Given the description of an element on the screen output the (x, y) to click on. 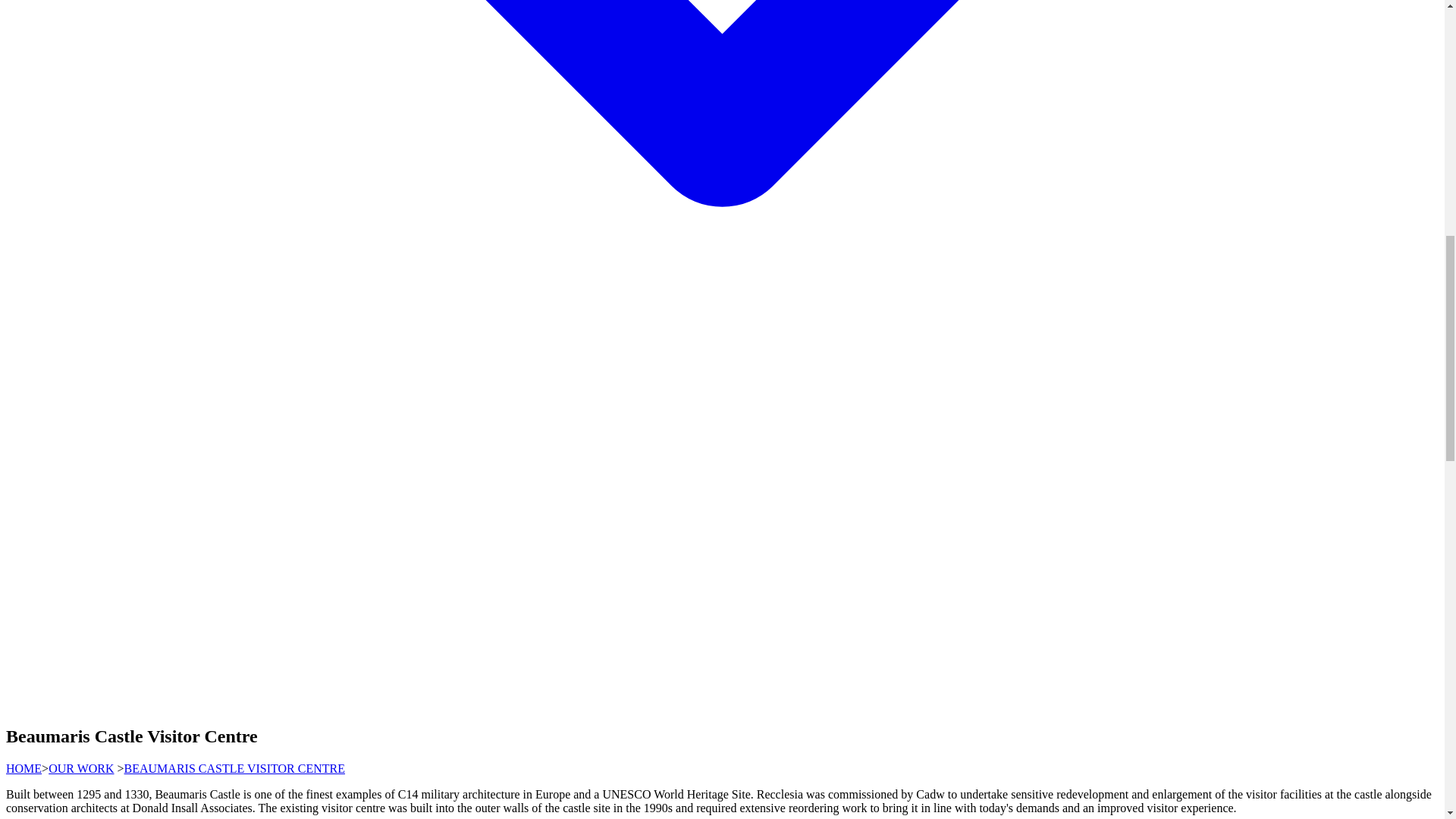
HOME (23, 768)
OUR WORK (80, 768)
BEAUMARIS CASTLE VISITOR CENTRE (234, 768)
